Given the description of an element on the screen output the (x, y) to click on. 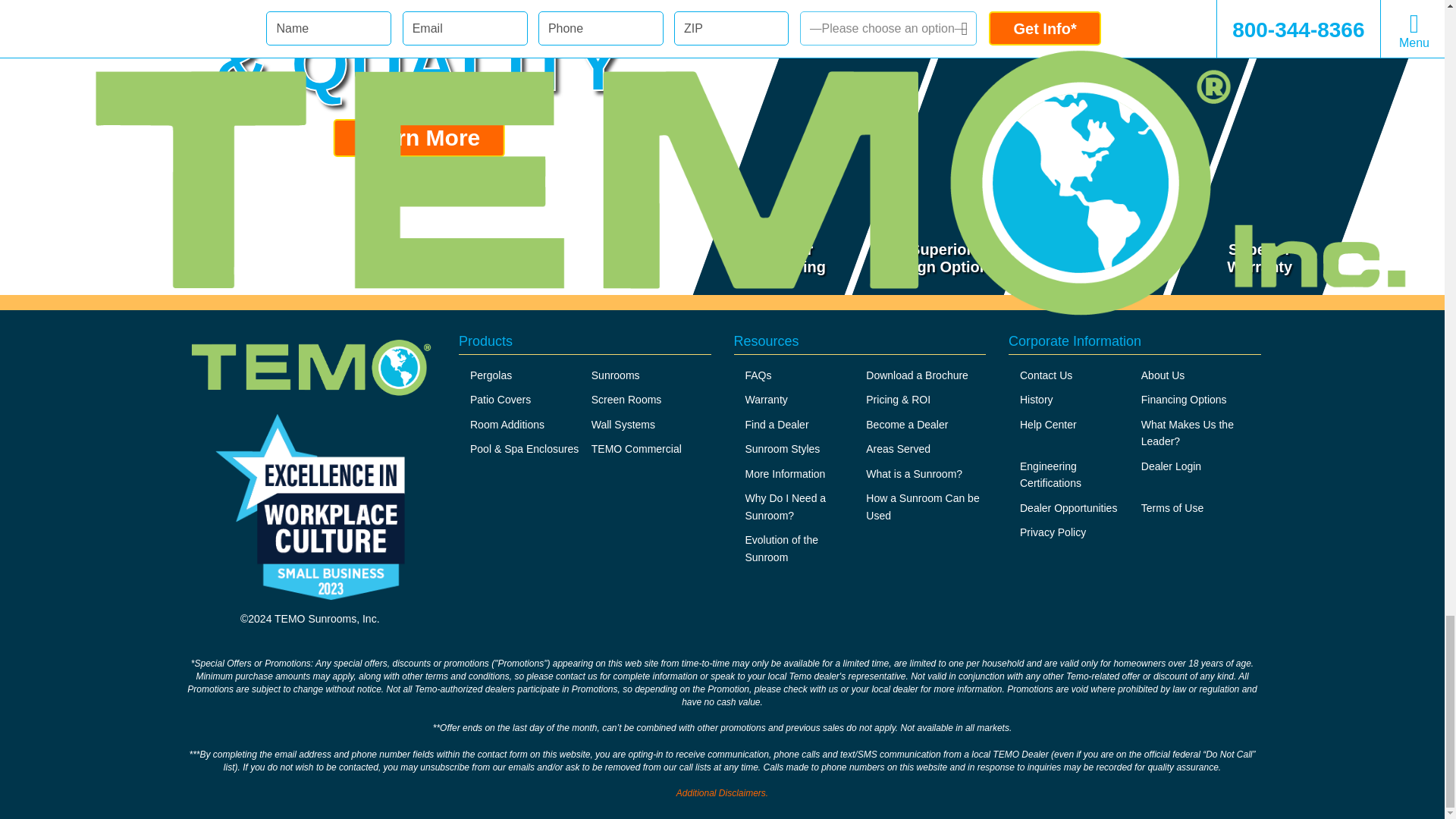
Employee Recognition Awards (309, 506)
TEMO Sunrooms, Inc. (309, 370)
